Given the description of an element on the screen output the (x, y) to click on. 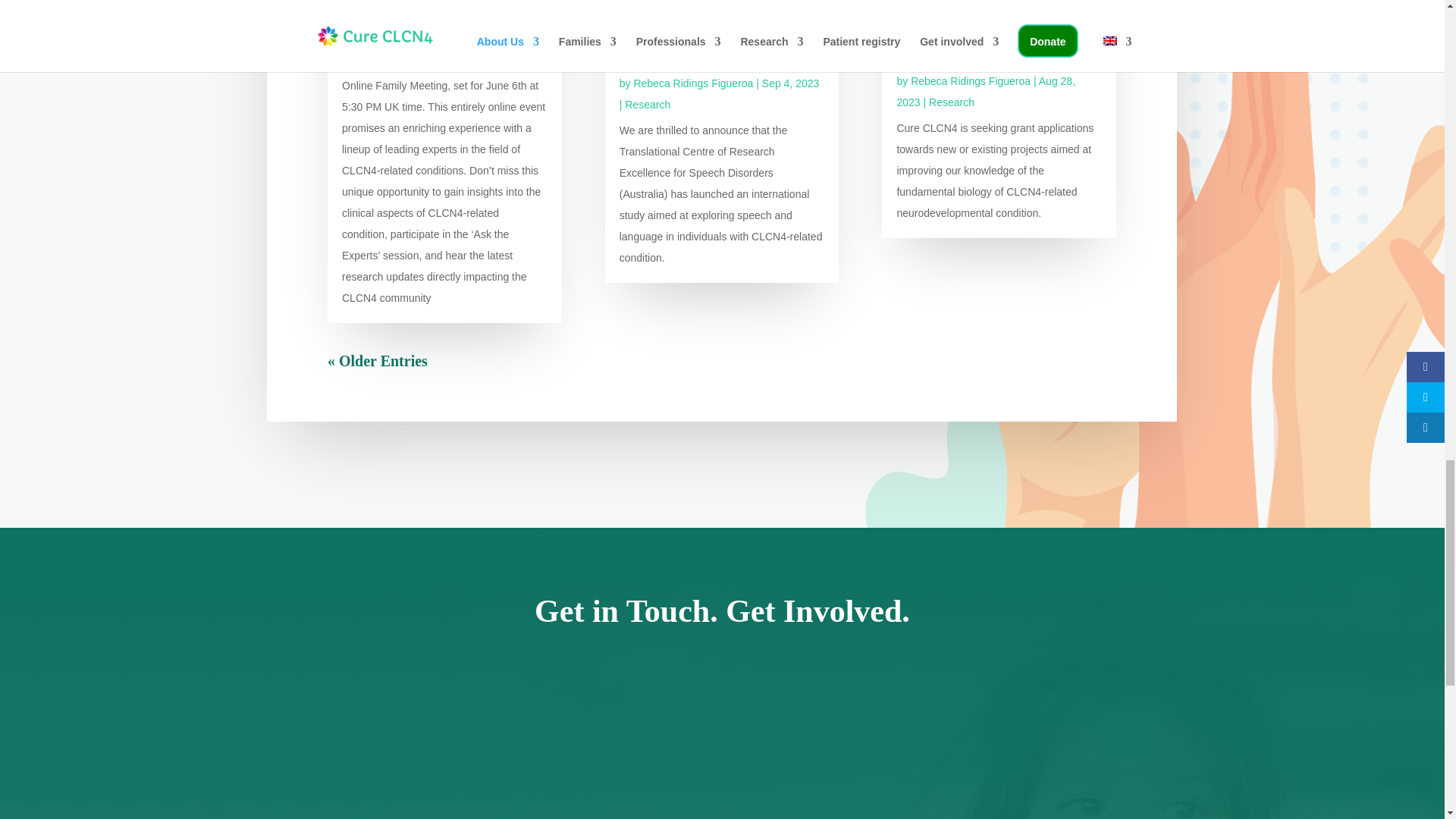
Posts by Rebeca Ridings Figueroa (692, 82)
Posts by Rebeca Ridings Figueroa (416, 17)
